Given the description of an element on the screen output the (x, y) to click on. 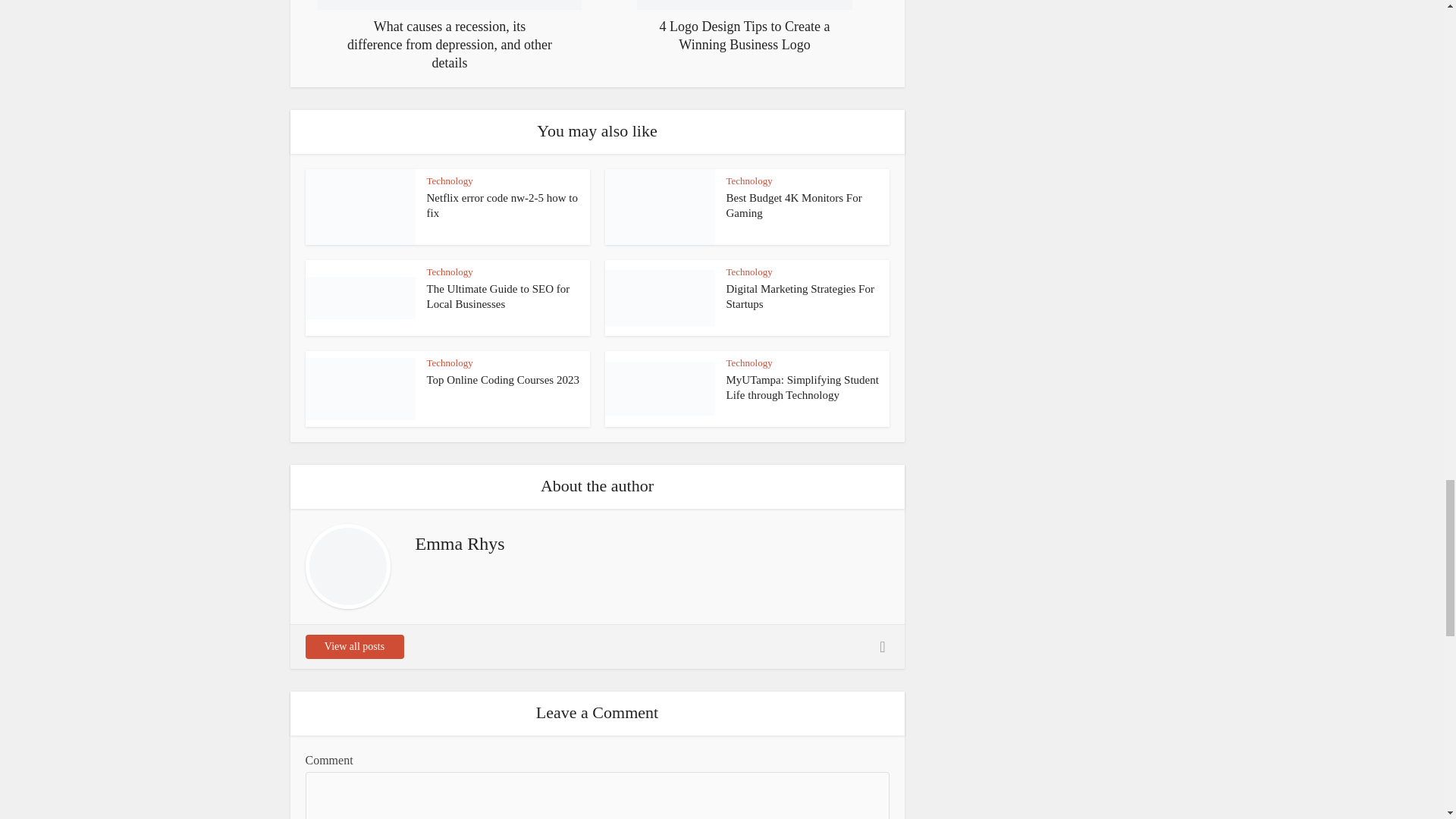
Digital Marketing Strategies For Startups (800, 296)
Best Budget 4K Monitors For Gaming (793, 205)
The Ultimate Guide to SEO for Local Businesses (497, 296)
Netflix error code nw-2-5 how to fix (502, 205)
